Given the description of an element on the screen output the (x, y) to click on. 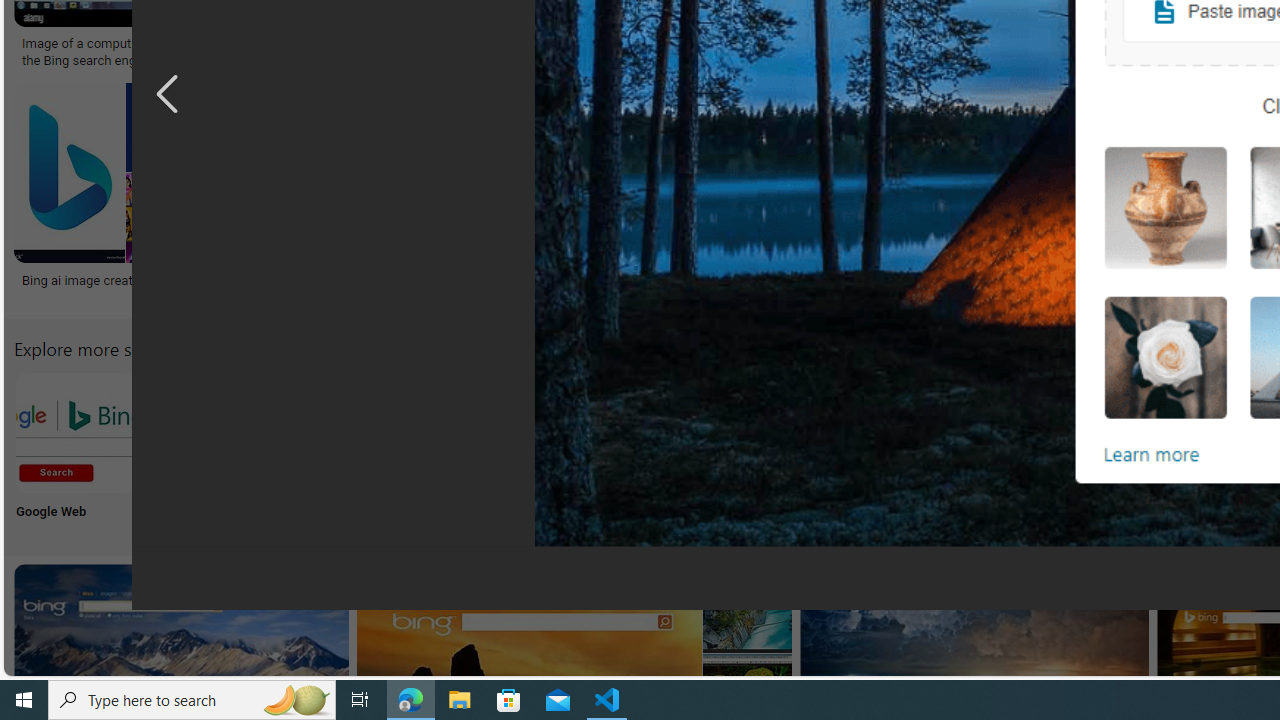
Bing ai image creator (114, 279)
Internet Explorer (339, 450)
Microsoft Edge (472, 450)
Bing Search Results Results (1131, 450)
Bing Search Results (1131, 432)
